Given the description of an element on the screen output the (x, y) to click on. 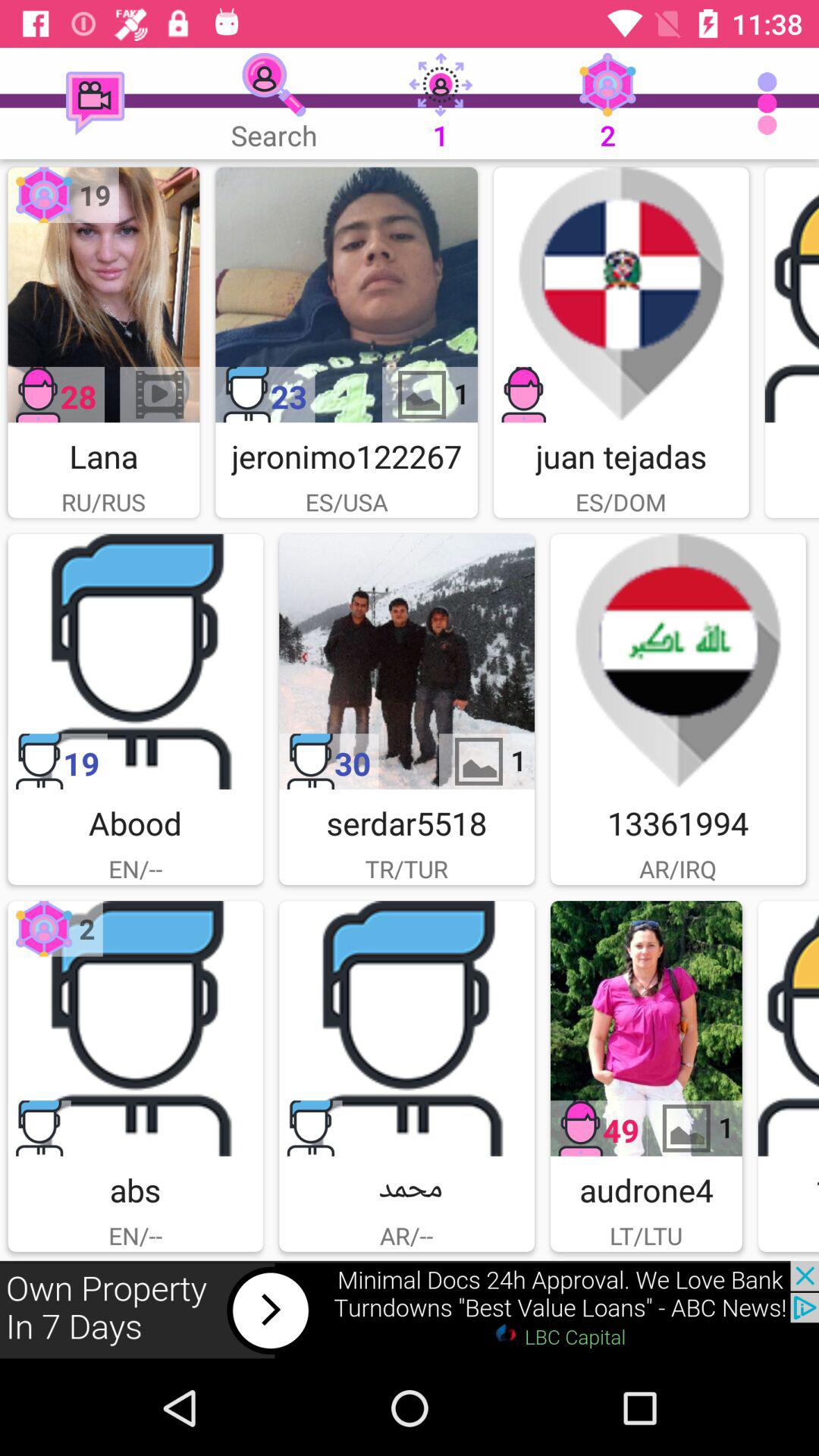
select user (646, 1028)
